Given the description of an element on the screen output the (x, y) to click on. 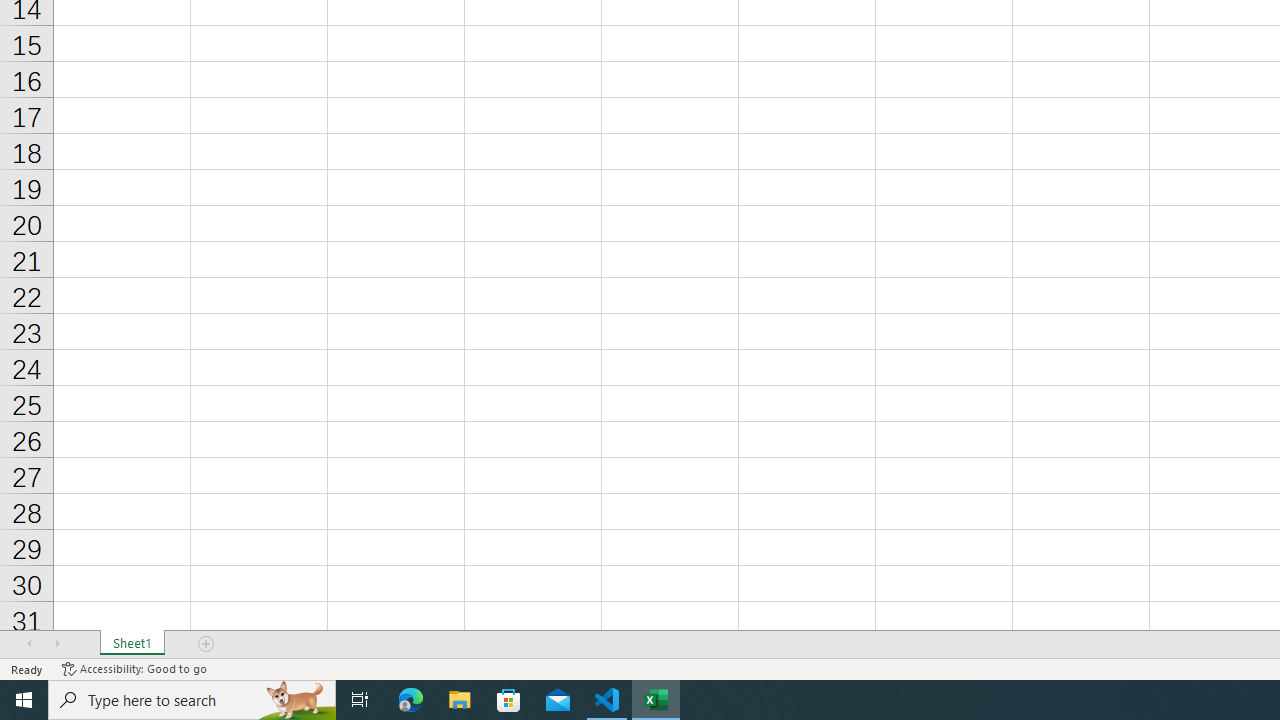
Sheet1 (132, 644)
Scroll Right (57, 644)
Add Sheet (207, 644)
Accessibility Checker Accessibility: Good to go (134, 668)
Scroll Left (29, 644)
